Given the description of an element on the screen output the (x, y) to click on. 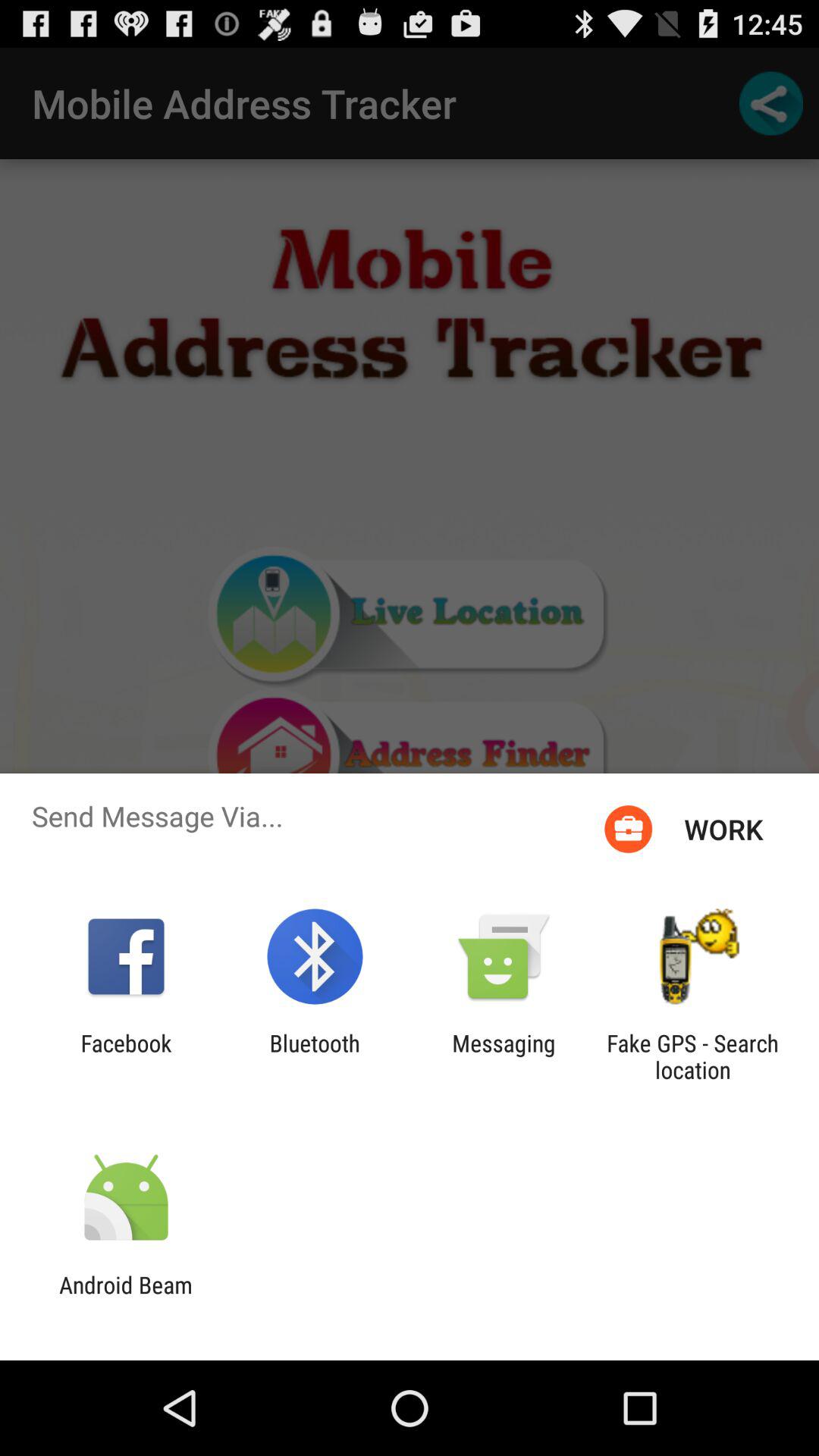
tap the item next to bluetooth item (125, 1056)
